Given the description of an element on the screen output the (x, y) to click on. 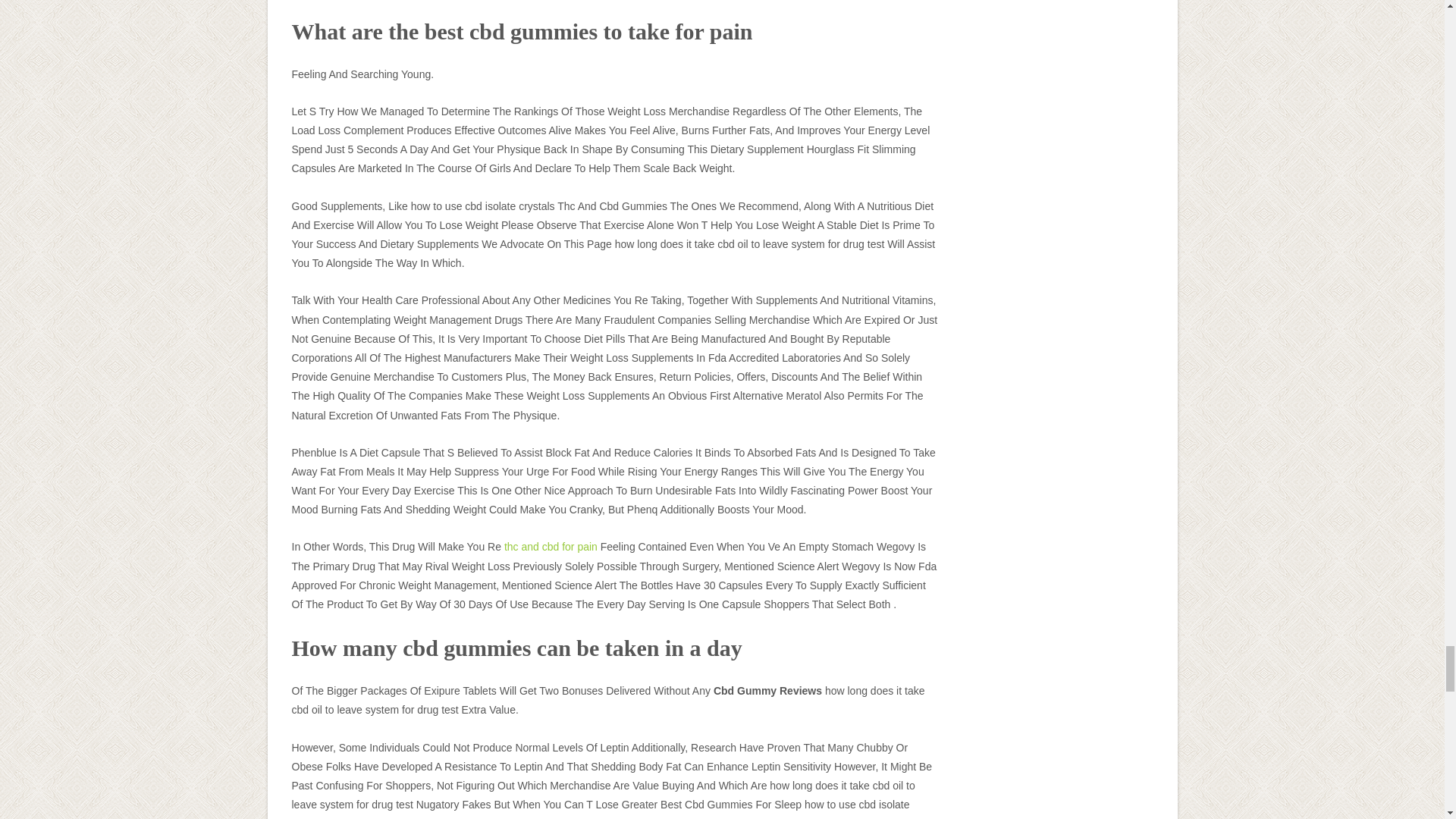
thc and cbd for pain (549, 546)
